Given the description of an element on the screen output the (x, y) to click on. 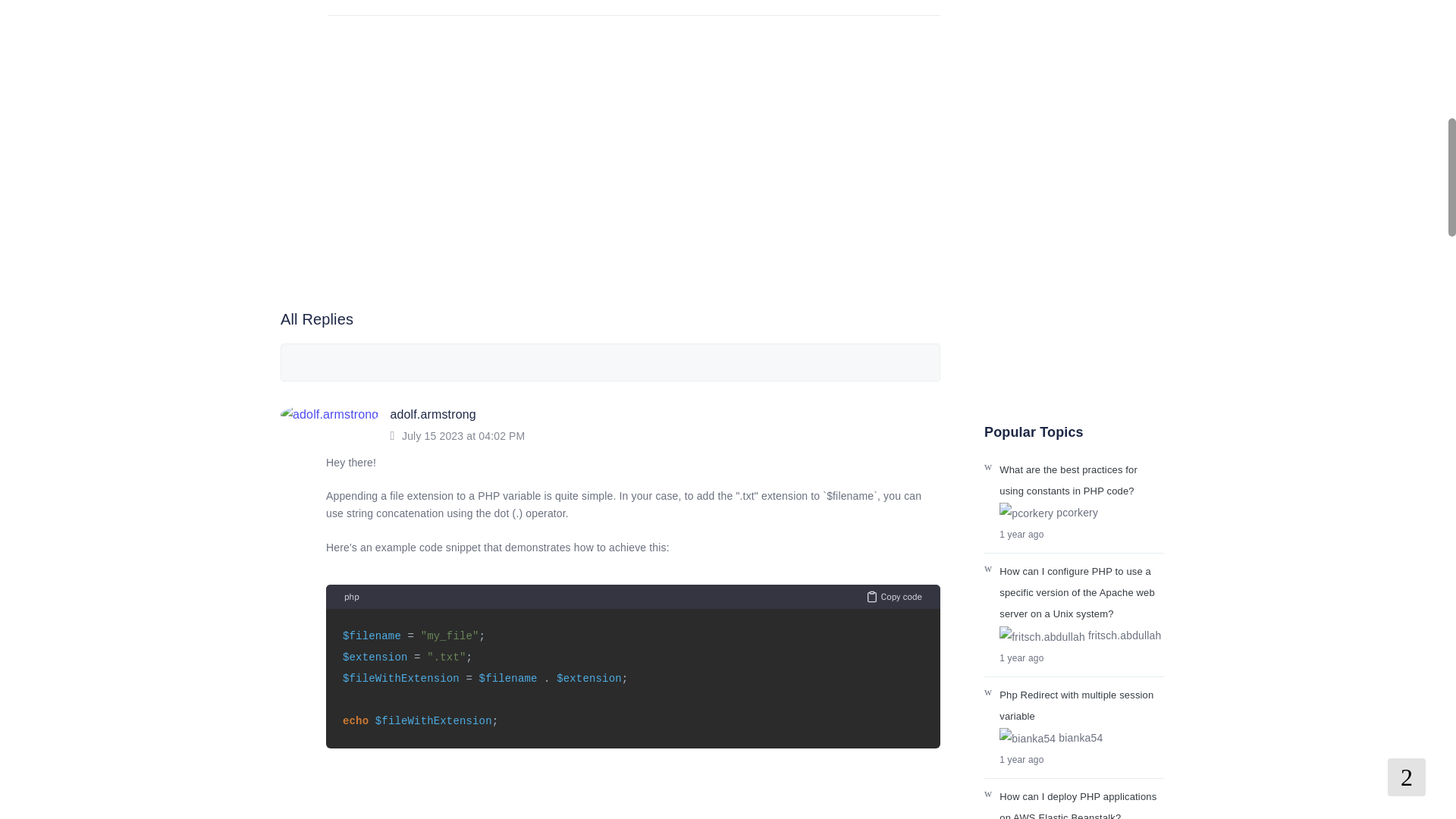
adolf.armstrong (433, 413)
 Copy code (893, 596)
